Given the description of an element on the screen output the (x, y) to click on. 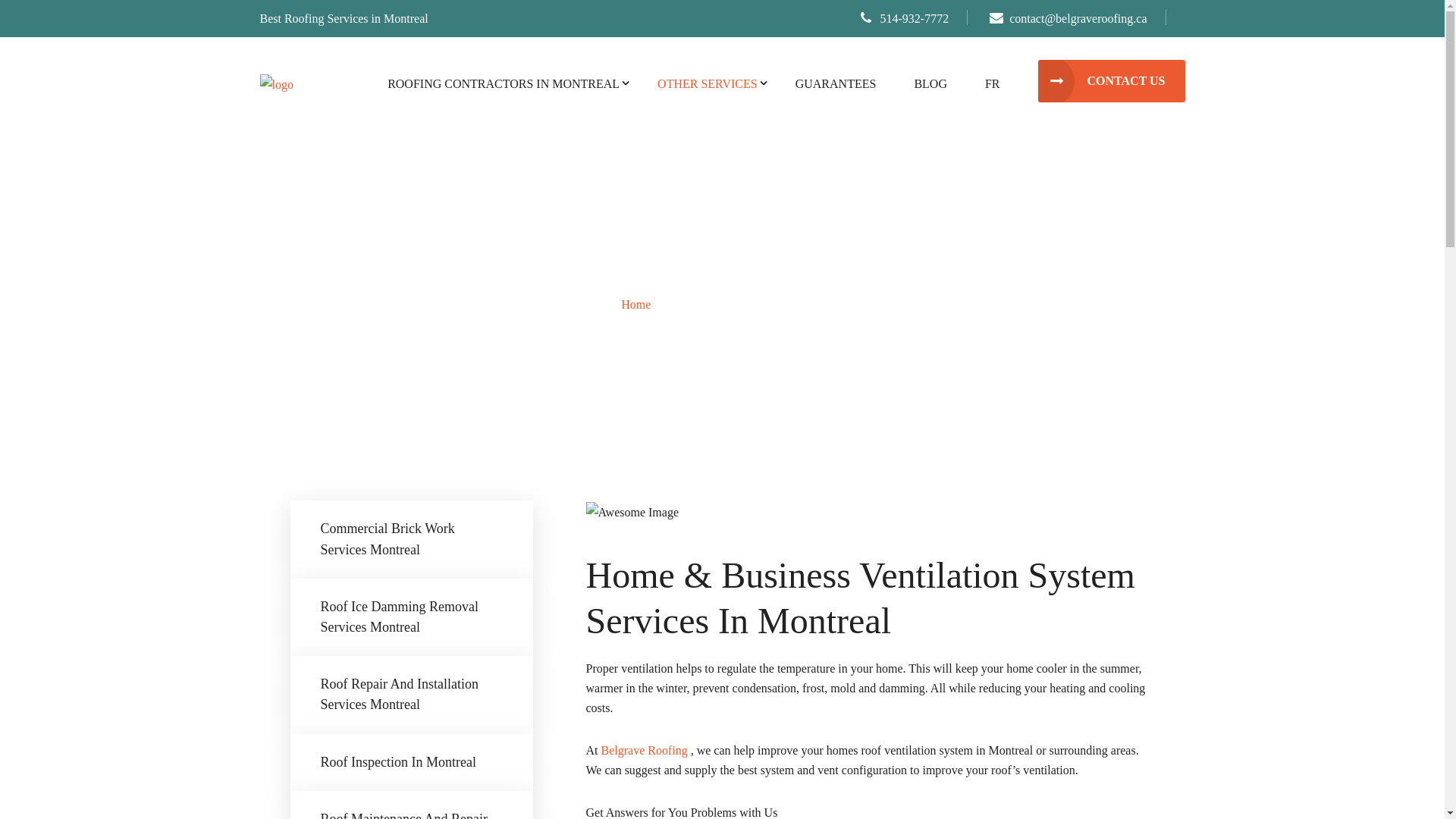
contact@belgraveroofing.ca Element type: text (1067, 18)
Roof Repair And Installation Services Montreal Element type: text (410, 694)
Belgrave Roofing Element type: text (645, 749)
FR Element type: text (992, 83)
Home Element type: text (635, 304)
CONTACT US Element type: text (1111, 80)
BLOG Element type: text (930, 83)
514-932-7772 Element type: text (904, 18)
Commercial Brick Work Services Montreal Element type: text (410, 538)
GUARANTEES Element type: text (835, 83)
OTHER SERVICES Element type: text (707, 83)
Roof Ice Damming Removal Services Montreal Element type: text (410, 616)
ROOFING CONTRACTORS IN MONTREAL Element type: text (503, 83)
Roof Inspection In Montreal Element type: text (410, 762)
Belgrave Roofing Element type: hover (275, 83)
